Given the description of an element on the screen output the (x, y) to click on. 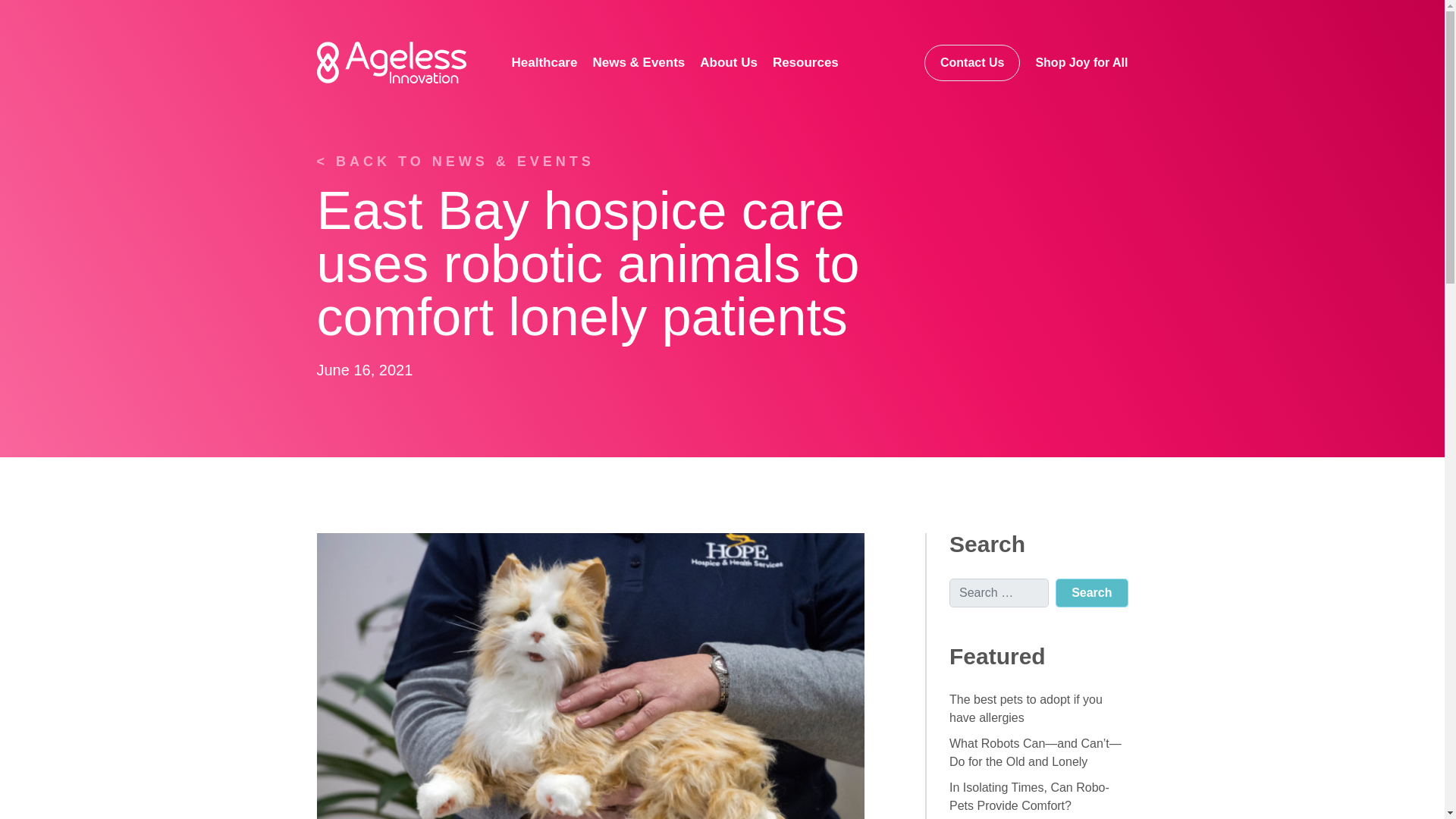
About Us (730, 62)
Resources (807, 62)
READ ARTICLE (379, 799)
Search (1090, 592)
Healthcare (545, 62)
In Isolating Times, Can Robo-Pets Provide Comfort? (1029, 796)
Search (1090, 592)
About Us (730, 62)
Healthcare (545, 62)
Resources (807, 62)
